Given the description of an element on the screen output the (x, y) to click on. 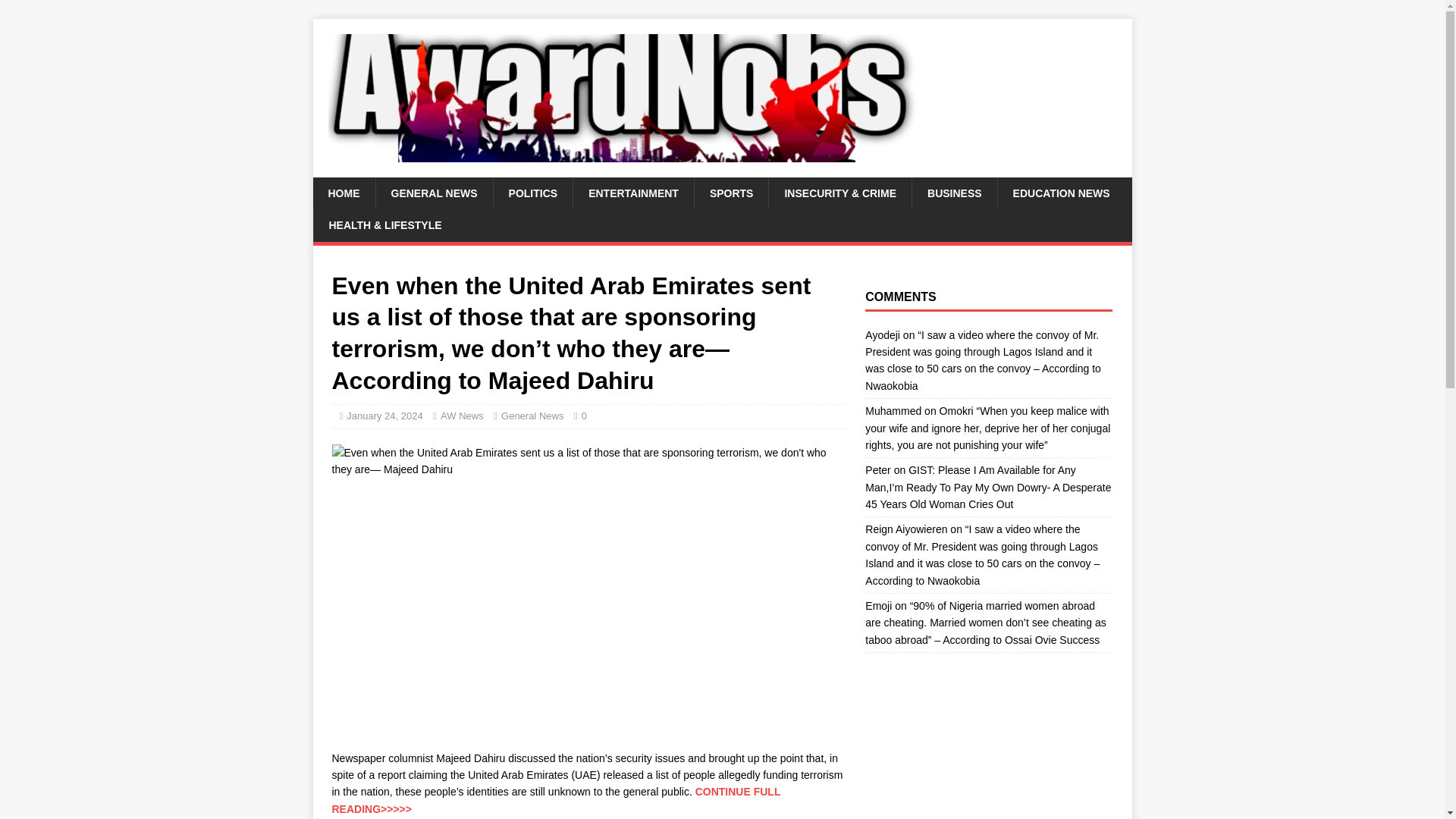
HOME (343, 193)
General News (531, 415)
BUSINESS (954, 193)
GENERAL NEWS (433, 193)
January 24, 2024 (384, 415)
SPORTS (731, 193)
AW News (462, 415)
ENTERTAINMENT (633, 193)
EDUCATION NEWS (1061, 193)
Ayodeji (881, 335)
